Given the description of an element on the screen output the (x, y) to click on. 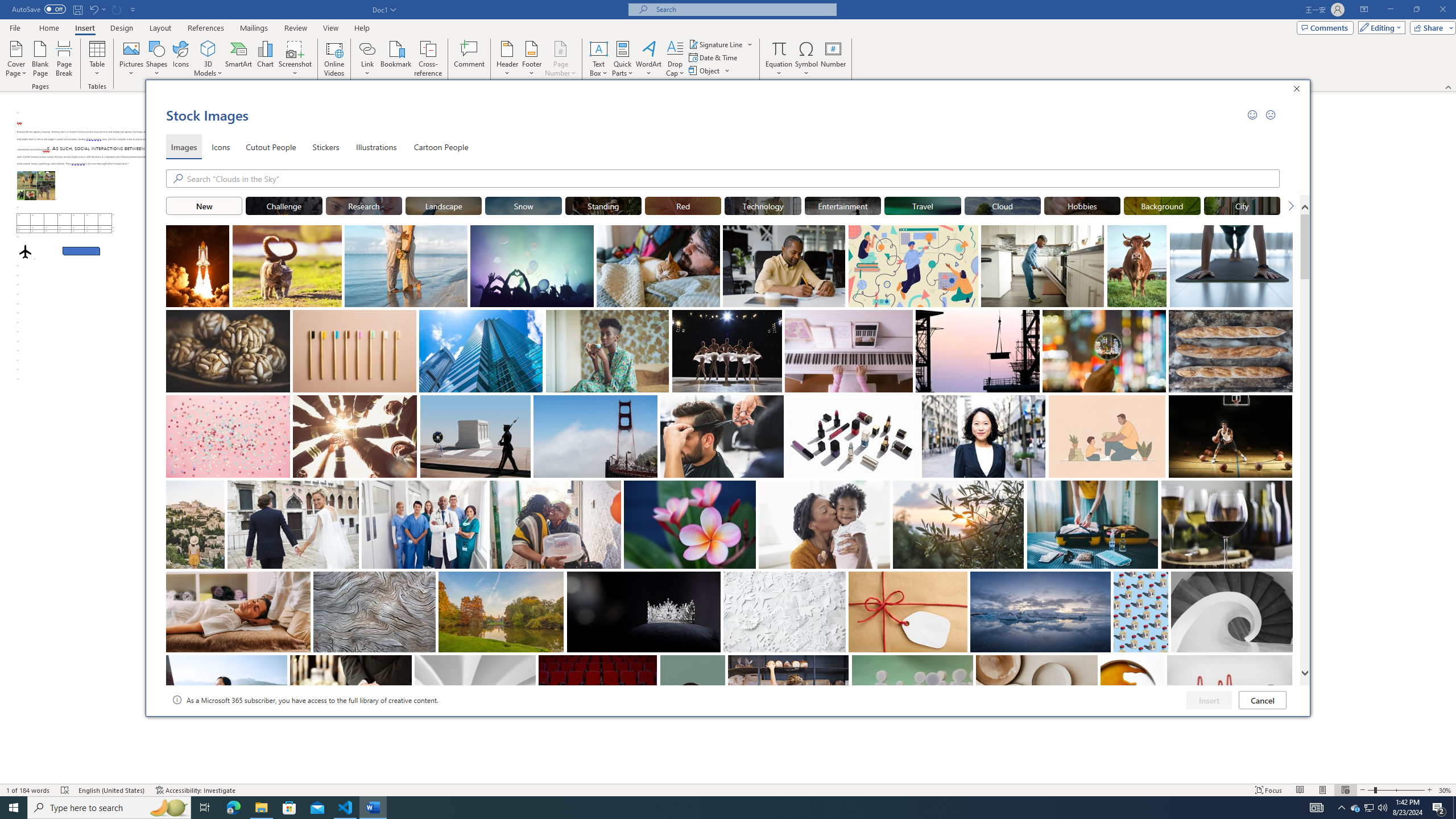
"Standing" Stock Images. (603, 205)
Collapse the Ribbon (1448, 86)
Class: NetUIScrollBar (1450, 437)
Stickers (326, 146)
Zoom 30% (1445, 790)
Send a Frown (1269, 114)
Blank Page (40, 58)
Zoom Out (1370, 790)
System (6, 6)
